Given the description of an element on the screen output the (x, y) to click on. 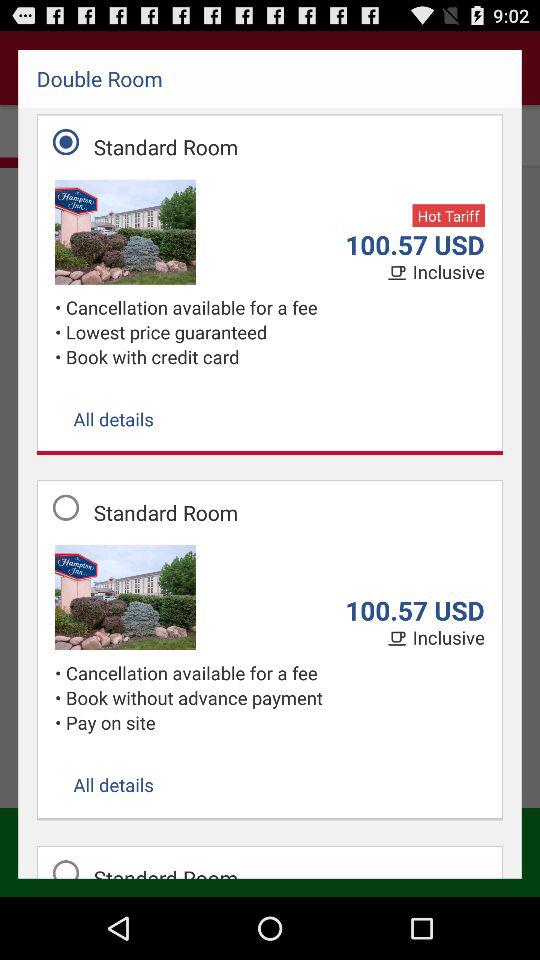
turn off pay on site icon (275, 722)
